Given the description of an element on the screen output the (x, y) to click on. 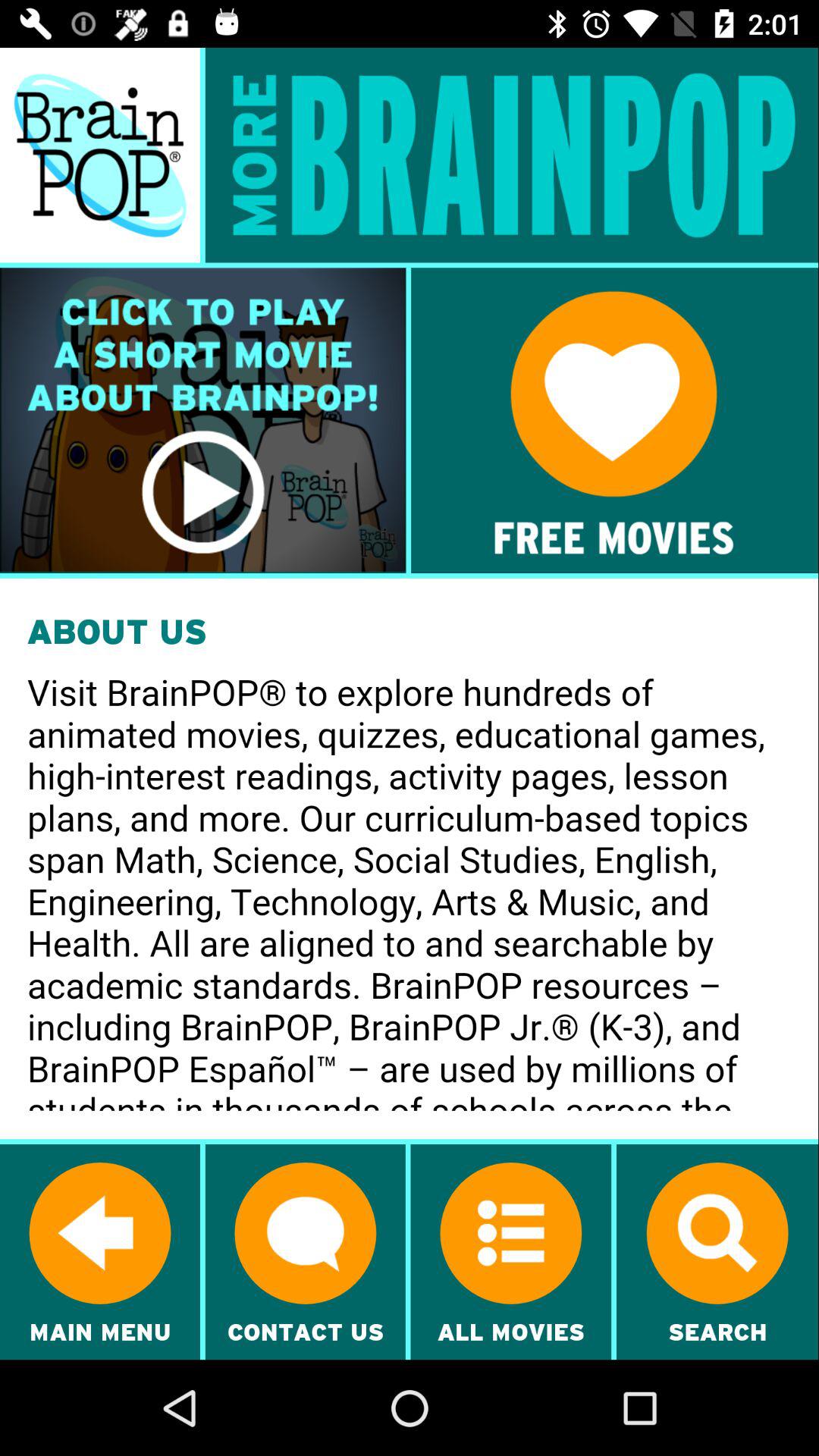
view free movies (614, 420)
